Given the description of an element on the screen output the (x, y) to click on. 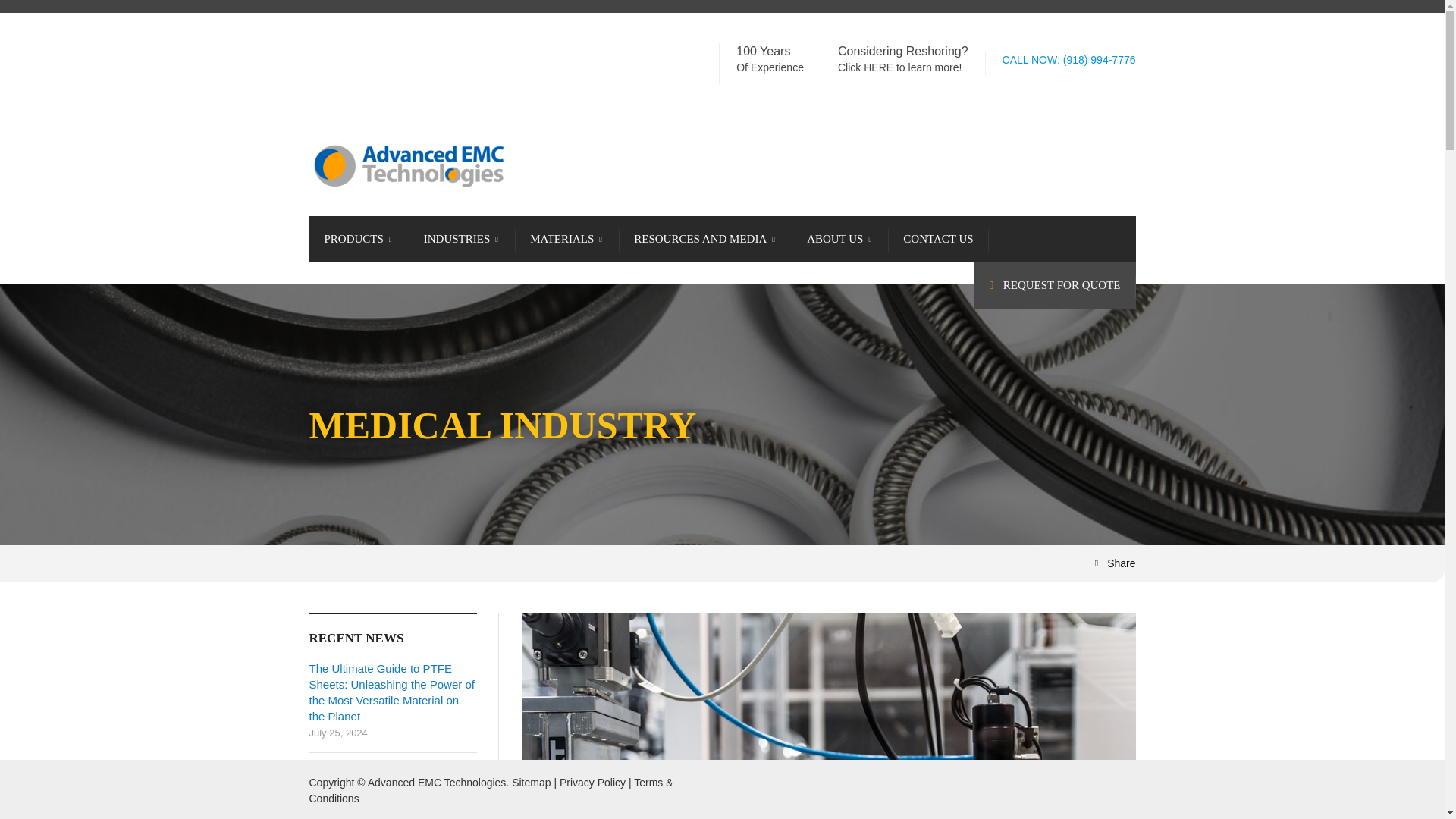
INDUSTRIES (462, 239)
MATERIALS (567, 239)
PRODUCTS (358, 239)
HERE (878, 67)
